Given the description of an element on the screen output the (x, y) to click on. 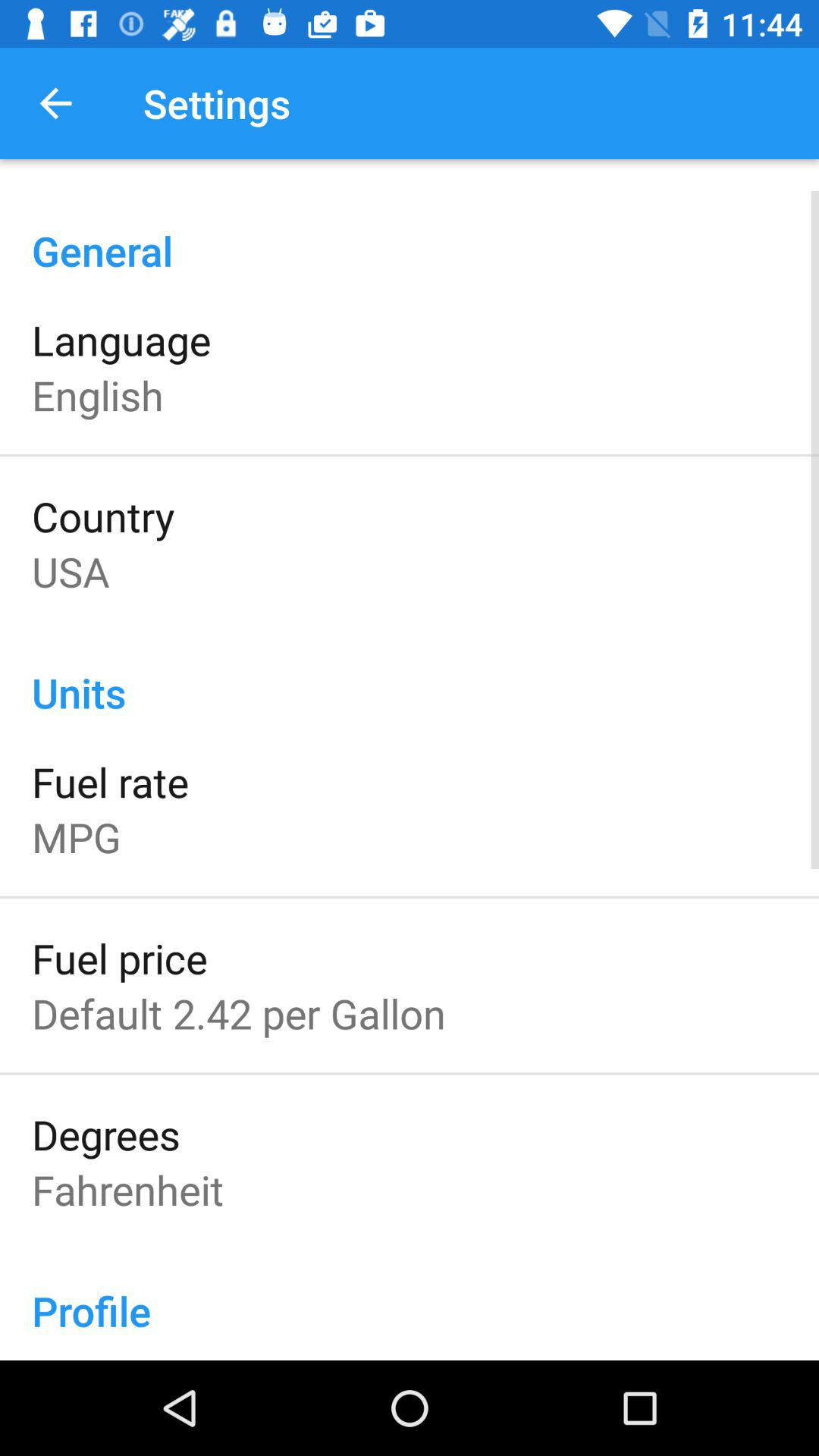
launch the item above country item (97, 394)
